Given the description of an element on the screen output the (x, y) to click on. 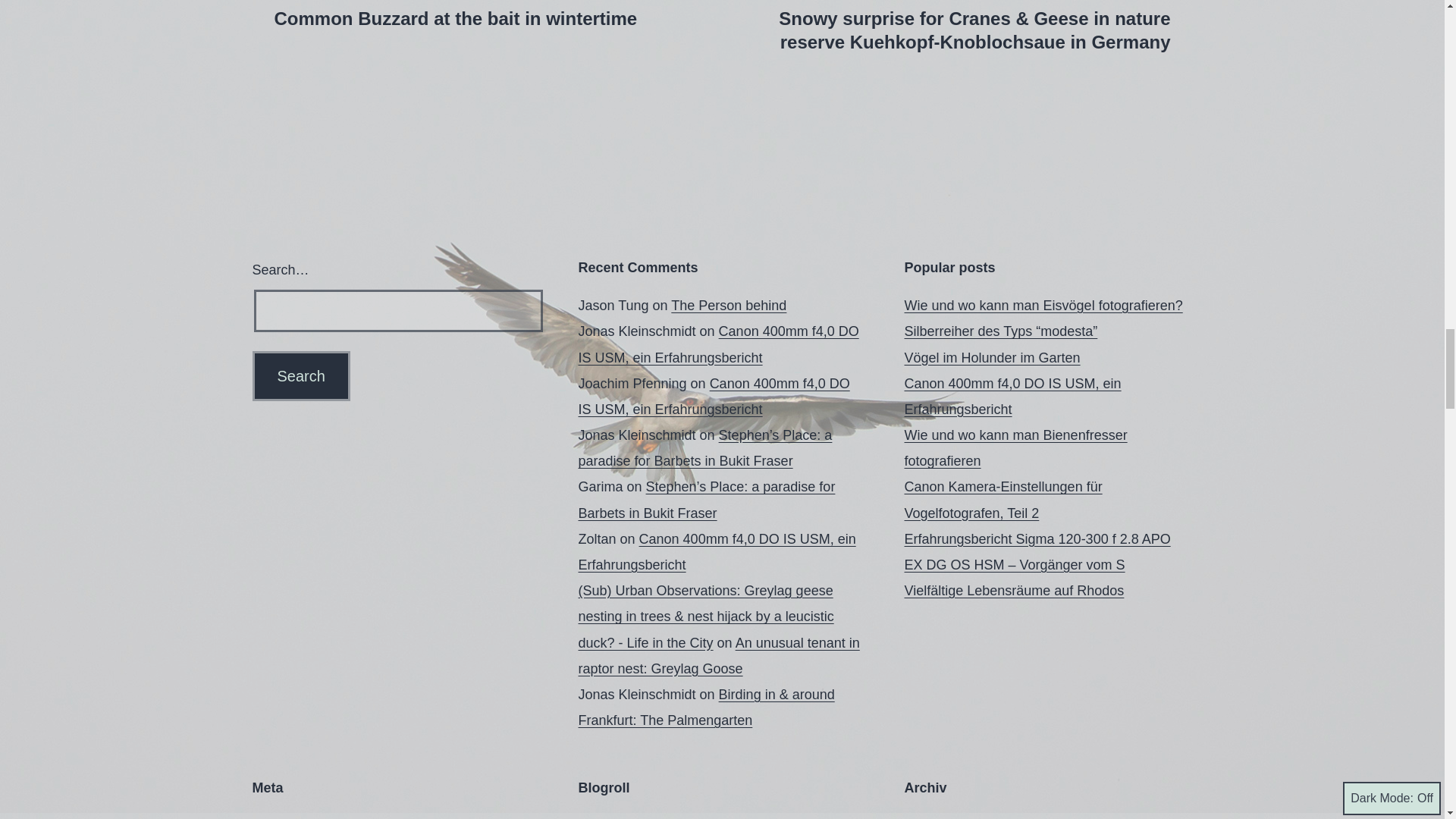
Search (300, 376)
Wie und wo kann man Bienenfresser fotografieren (1015, 447)
Canon 400mm f4,0 DO IS USM, ein Erfahrungsbericht (1012, 395)
Search (300, 376)
